Given the description of an element on the screen output the (x, y) to click on. 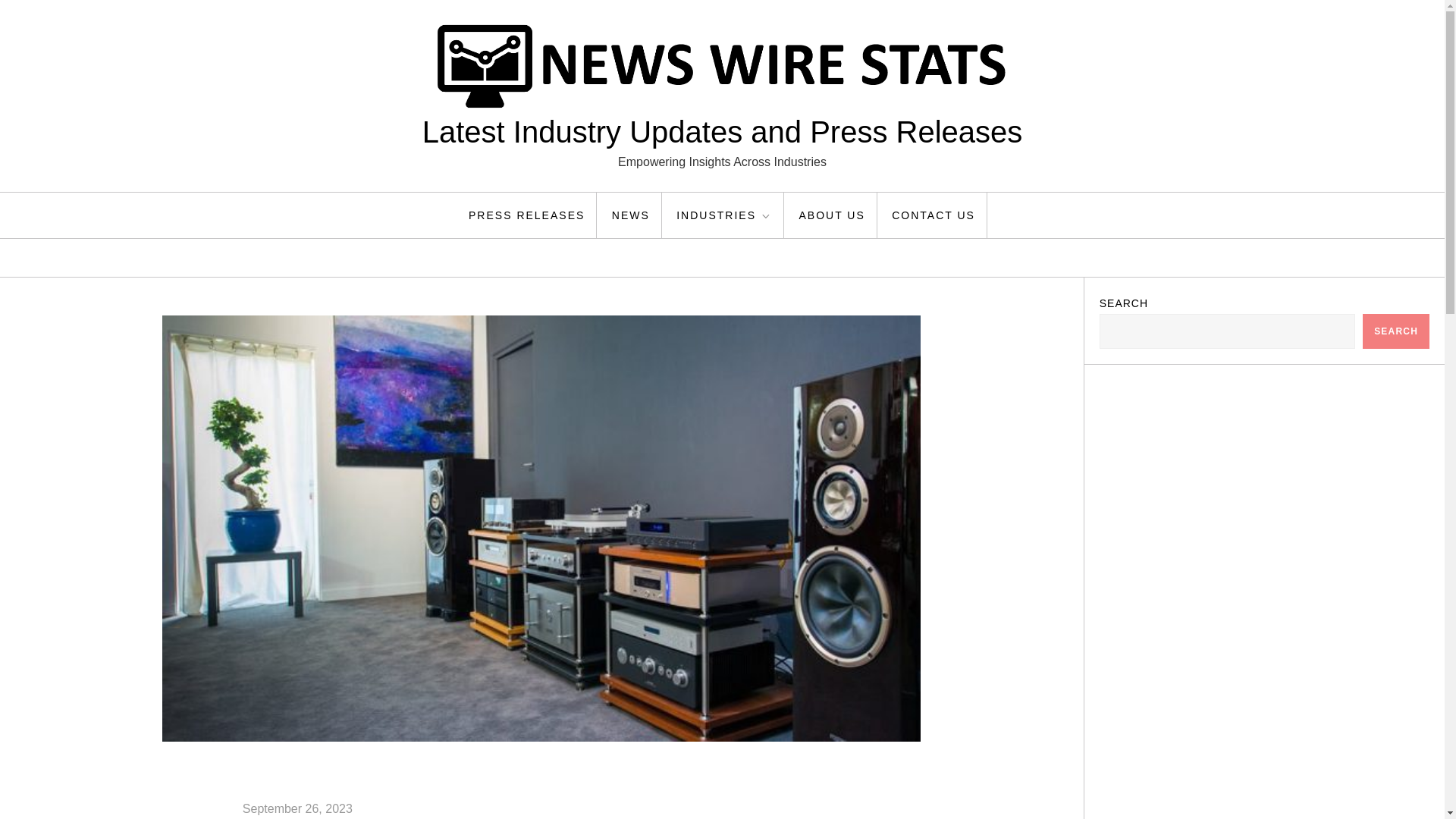
PRESS RELEASES (526, 215)
ABOUT US (831, 215)
September 26, 2023 (297, 808)
INDUSTRIES (724, 215)
Latest Industry Updates and Press Releases (722, 131)
NEWS (630, 215)
CONTACT US (933, 215)
SEARCH (1395, 330)
